Given the description of an element on the screen output the (x, y) to click on. 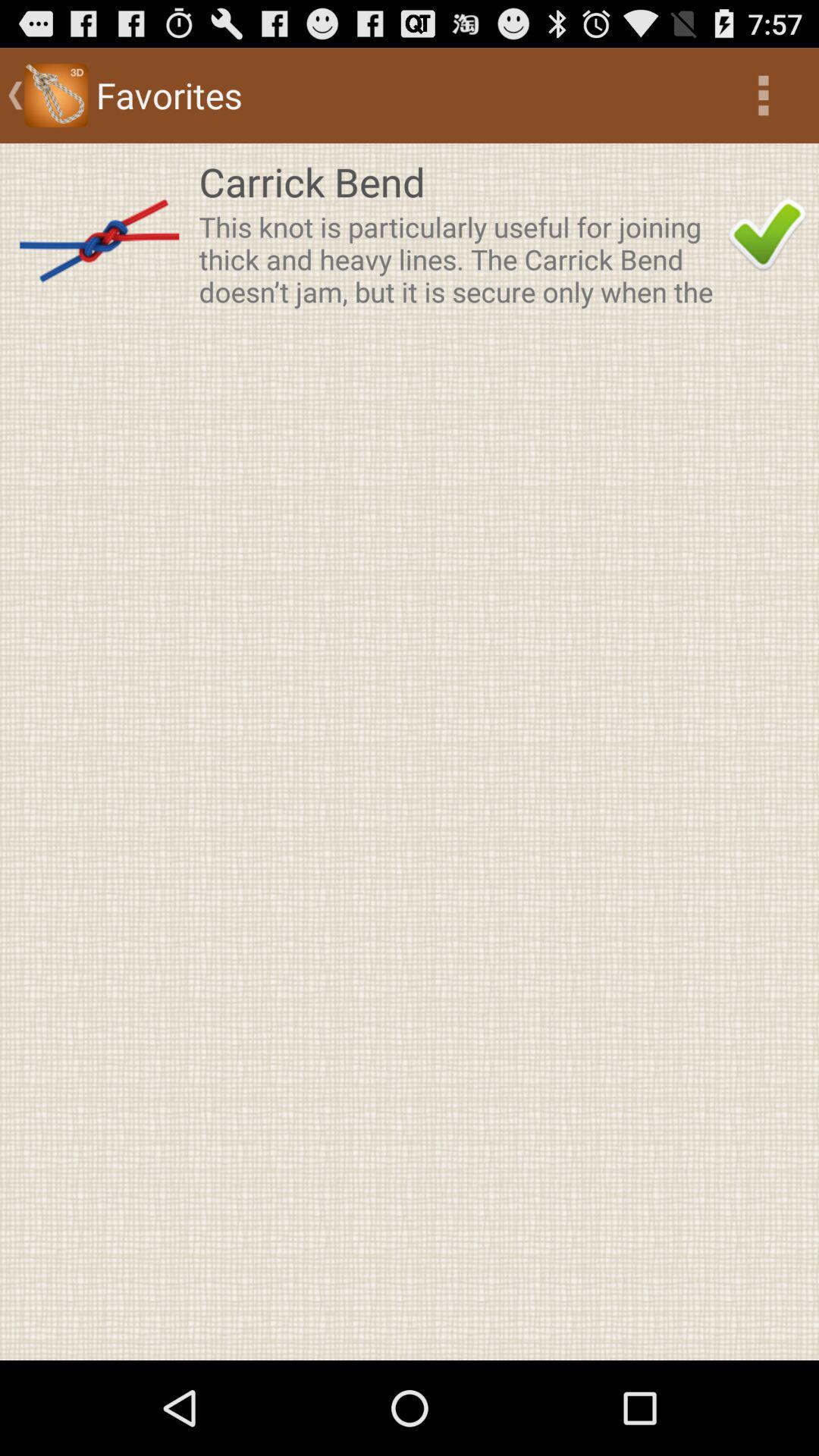
tap app to the right of carrick bend icon (767, 234)
